Given the description of an element on the screen output the (x, y) to click on. 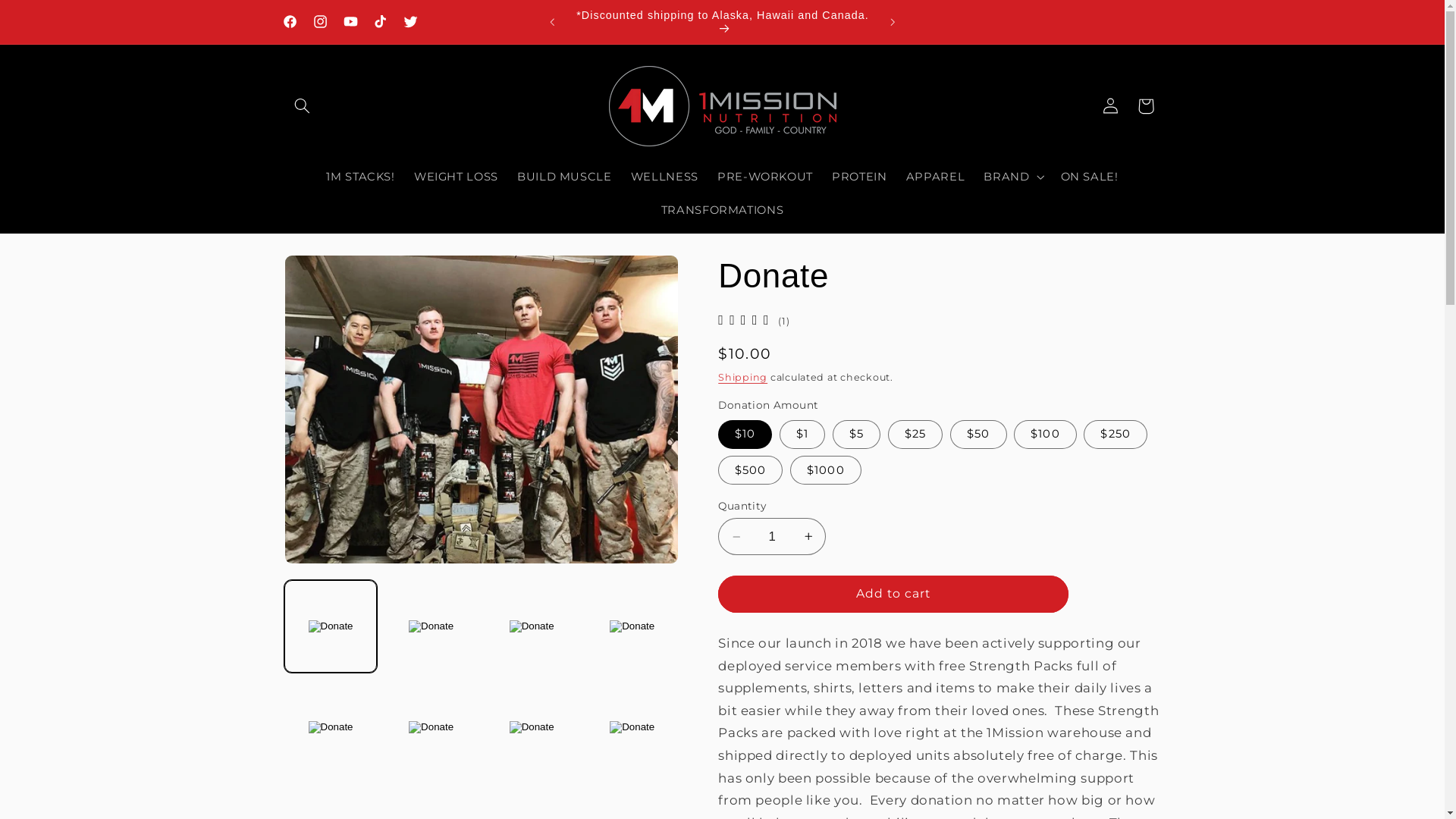
Instagram Element type: text (319, 21)
Add to cart Element type: text (893, 593)
Decrease quantity for Donate Element type: text (735, 536)
APPAREL Element type: text (935, 177)
FREE SHIPPING ON ORDERS OVER $100! Element type: text (722, 21)
TikTok Element type: text (380, 21)
ON SALE! Element type: text (1089, 177)
TRANSFORMATIONS Element type: text (722, 210)
Cart Element type: text (1145, 105)
Twitter Element type: text (410, 21)
Log in Element type: text (1110, 105)
Facebook Element type: text (289, 21)
PROTEIN Element type: text (859, 177)
WELLNESS Element type: text (664, 177)
1M STACKS! Element type: text (360, 177)
Increase quantity for Donate Element type: text (807, 536)
WEIGHT LOSS Element type: text (455, 177)
BUILD MUSCLE Element type: text (564, 177)
YouTube Element type: text (350, 21)
PRE-WORKOUT Element type: text (764, 177)
Shipping Element type: text (742, 376)
Skip to product information Element type: text (331, 272)
